Given the description of an element on the screen output the (x, y) to click on. 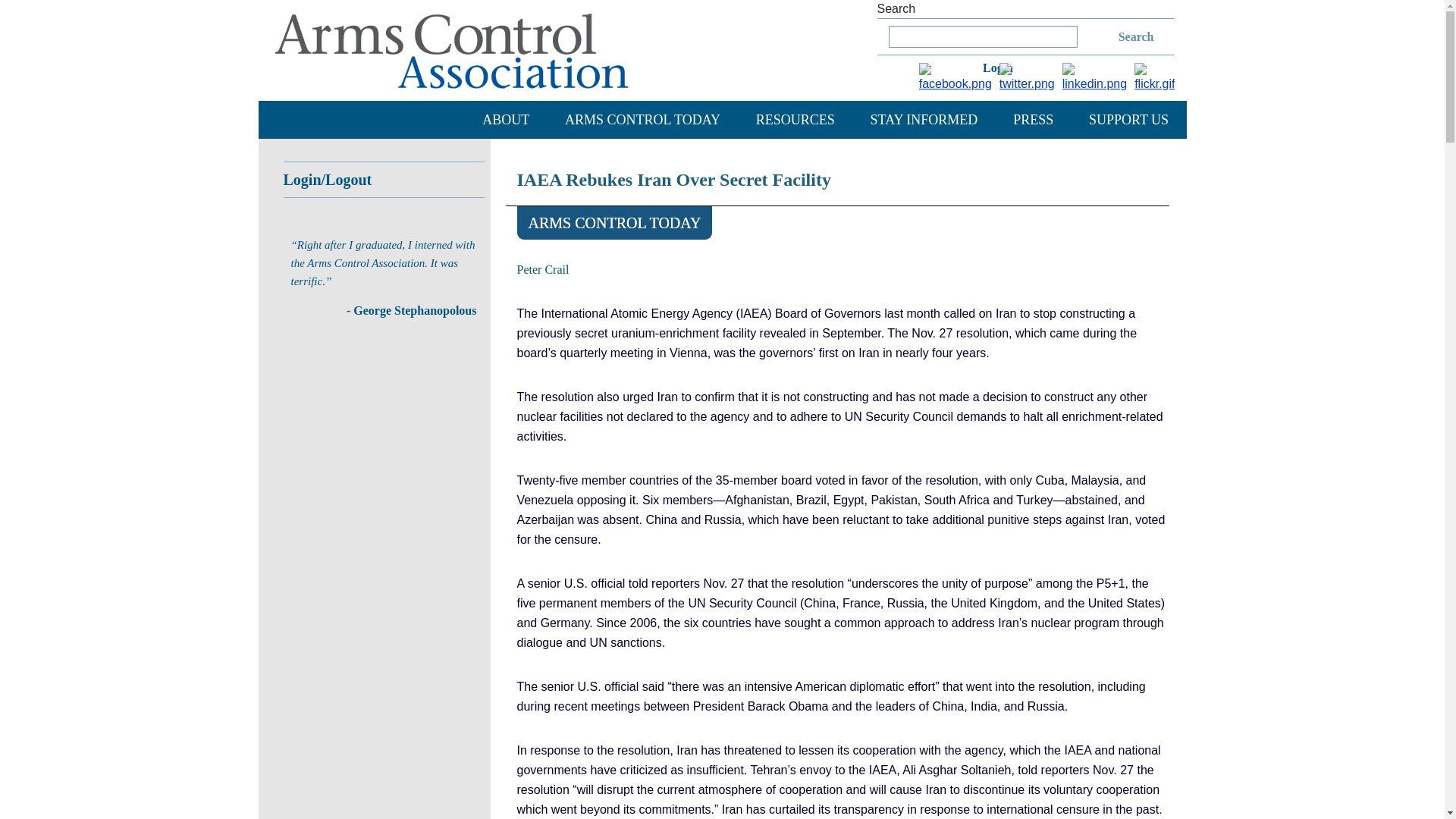
ABOUT (505, 119)
STAY INFORMED (923, 119)
Search (1117, 36)
RESOURCES (794, 119)
Enter the terms you wish to search for. (982, 36)
ARMS CONTROL TODAY (642, 119)
Home (451, 50)
Log in (1004, 65)
